Given the description of an element on the screen output the (x, y) to click on. 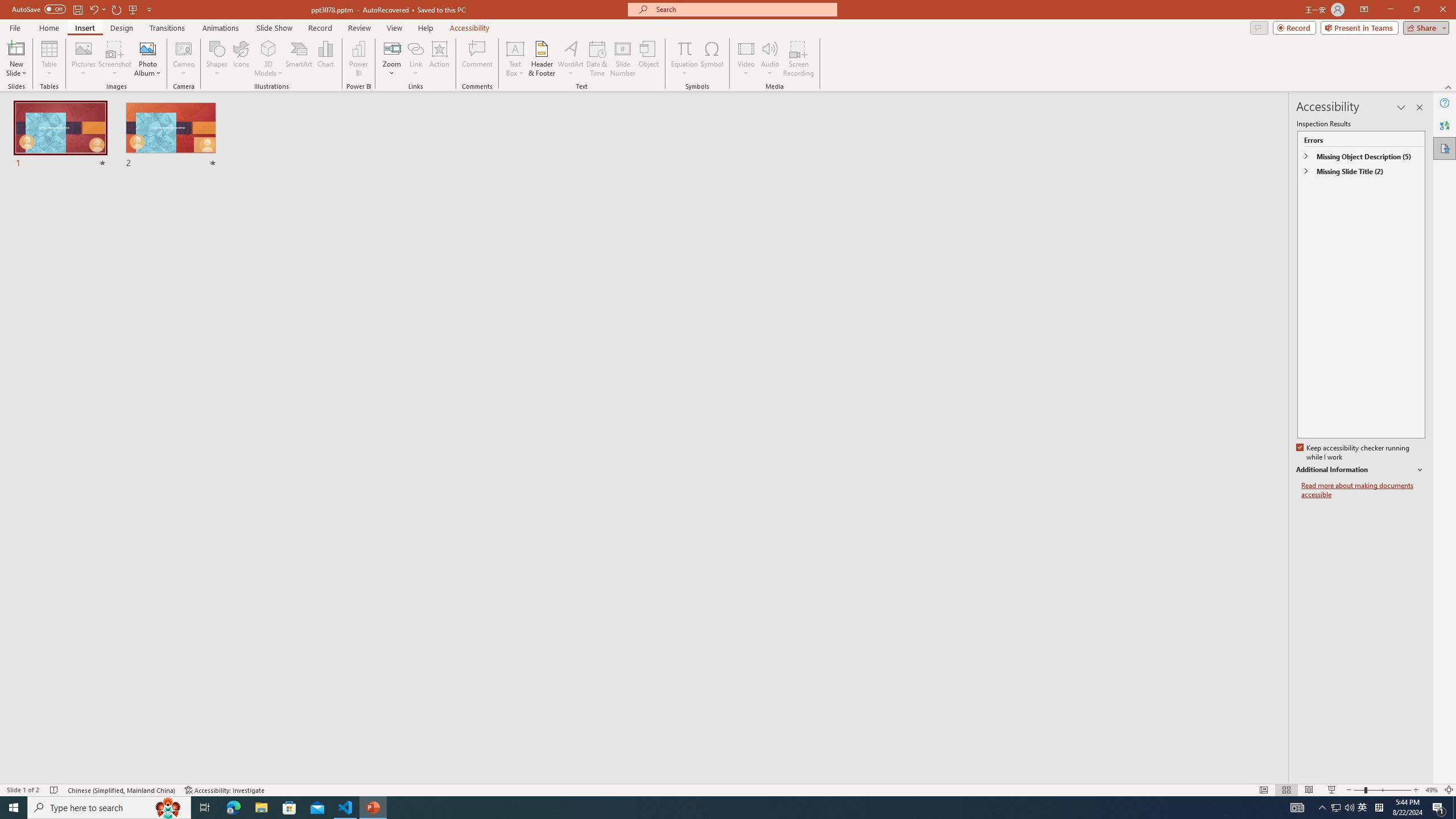
WordArt (570, 58)
Pictures (83, 58)
